Given the description of an element on the screen output the (x, y) to click on. 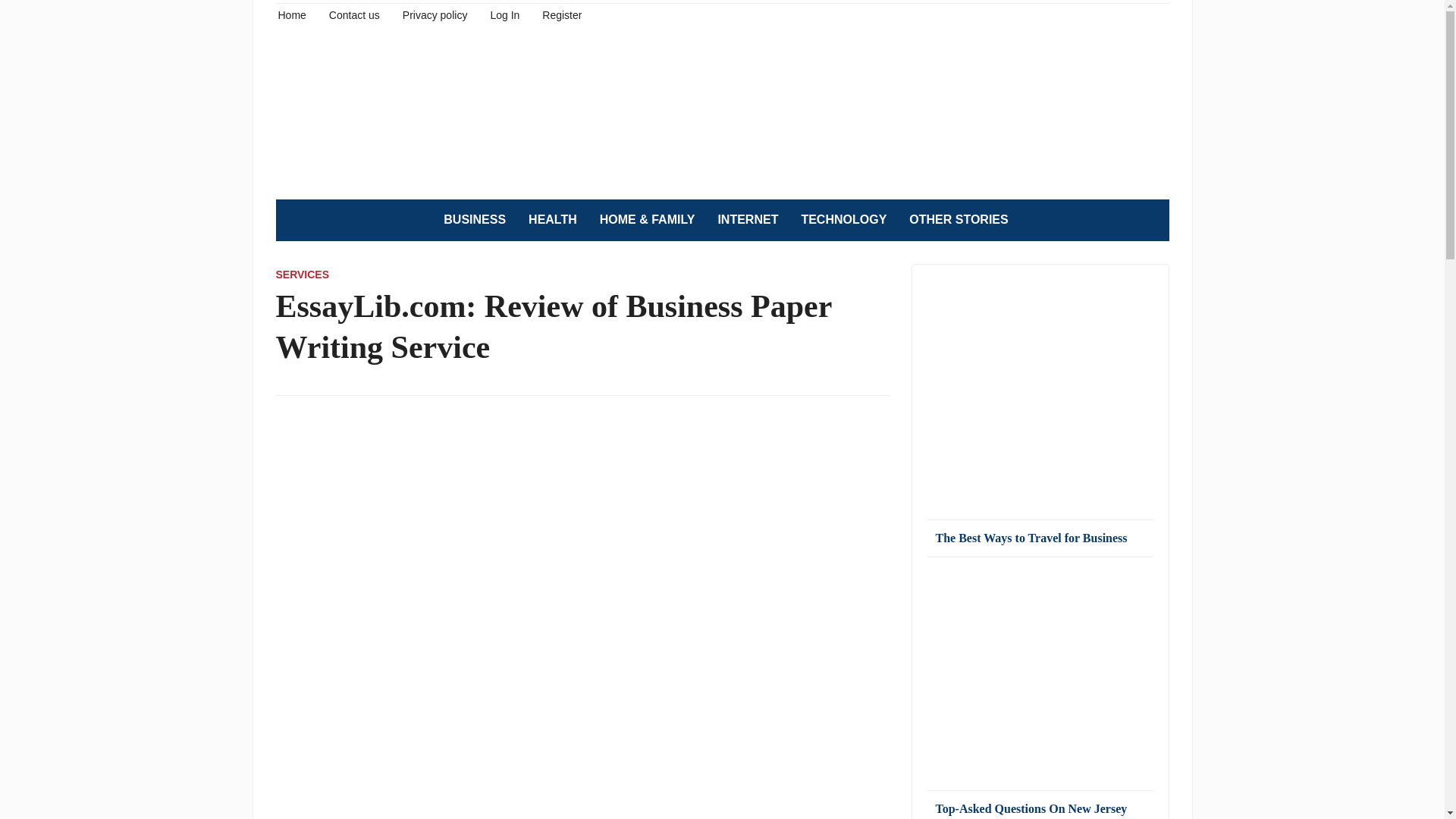
Search (1149, 219)
Register (560, 14)
Privacy policy (435, 14)
Contact us (354, 14)
Home (291, 14)
Log In (504, 14)
